Given the description of an element on the screen output the (x, y) to click on. 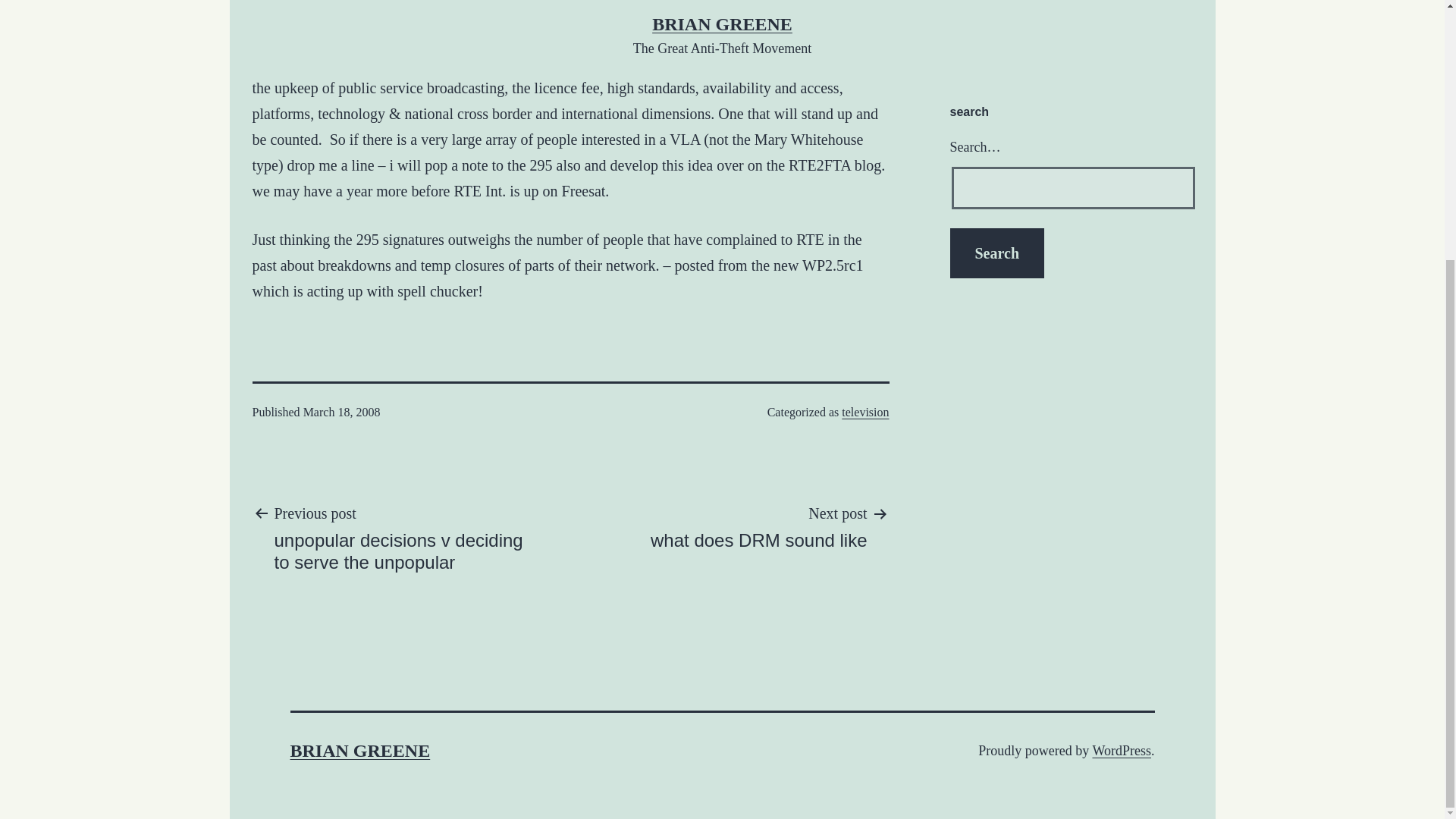
sun (995, 36)
Newgrange (968, 36)
television (864, 411)
winter solstice (1132, 13)
Phil Coulter (1023, 36)
Mahon Tribunal (1080, 13)
Search (996, 253)
money laundering (1020, 13)
KT Tunstall (758, 526)
Search (968, 13)
